Given the description of an element on the screen output the (x, y) to click on. 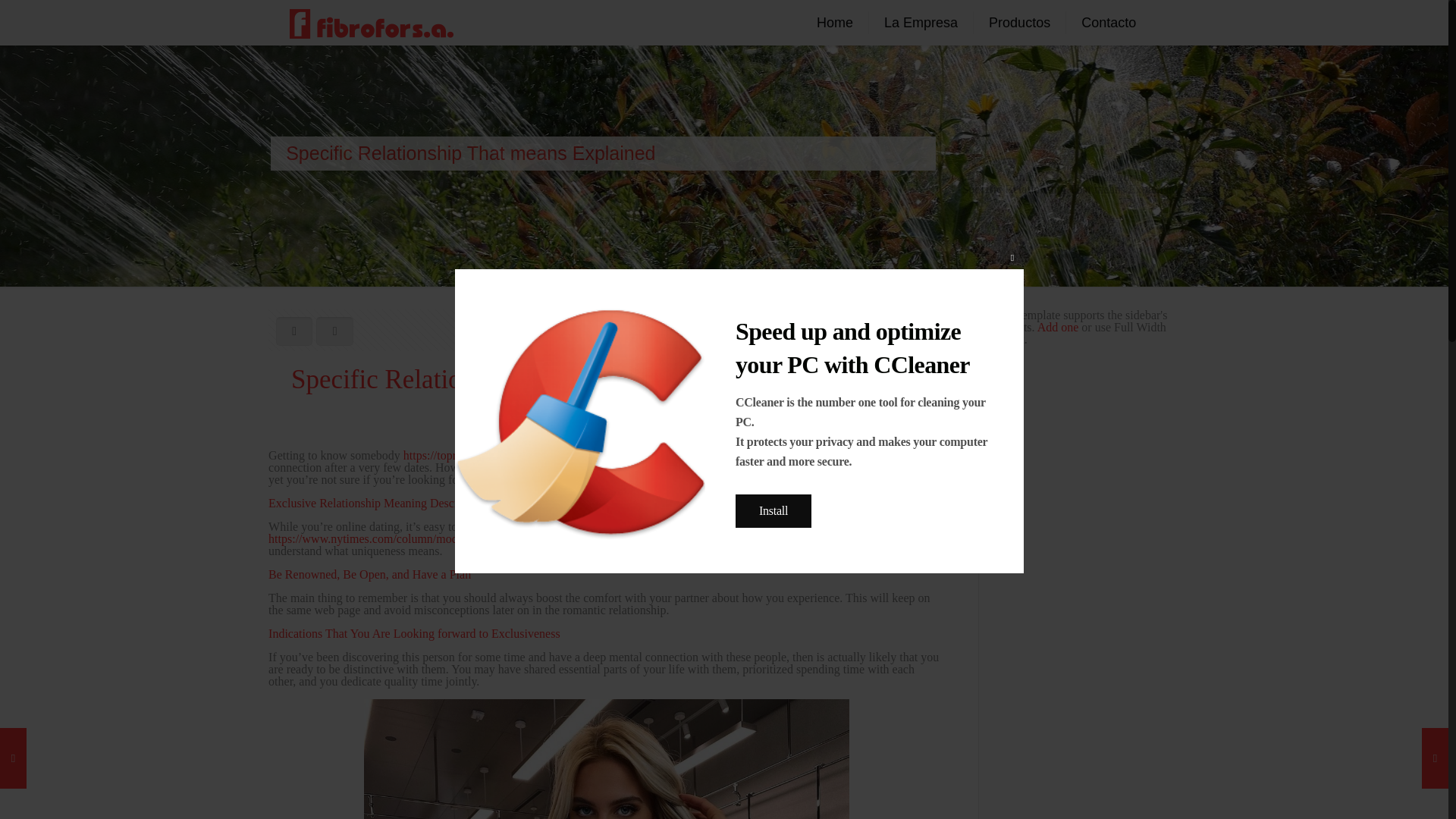
Close this module (1012, 256)
Productos (1019, 22)
Inicio (1028, 176)
Home (835, 22)
Contacto (1108, 22)
Add one (1057, 327)
Install (772, 510)
Fibrofor SA (370, 22)
La Empresa (921, 22)
